Given the description of an element on the screen output the (x, y) to click on. 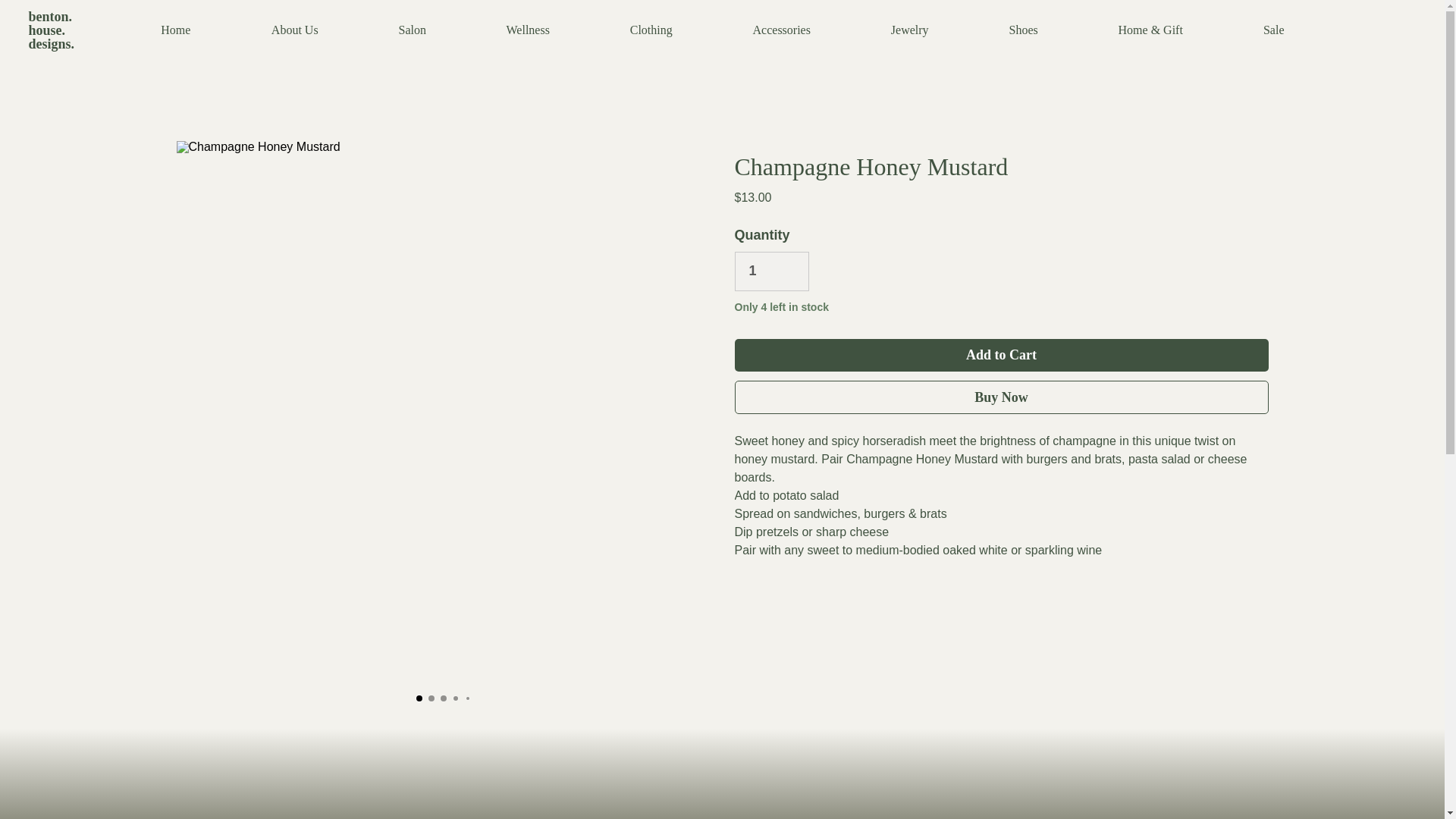
Jewelry (909, 30)
Accessories (781, 30)
Home (175, 30)
Clothing (651, 30)
1 (770, 271)
About Us (294, 30)
Shoes (1023, 30)
